Given the description of an element on the screen output the (x, y) to click on. 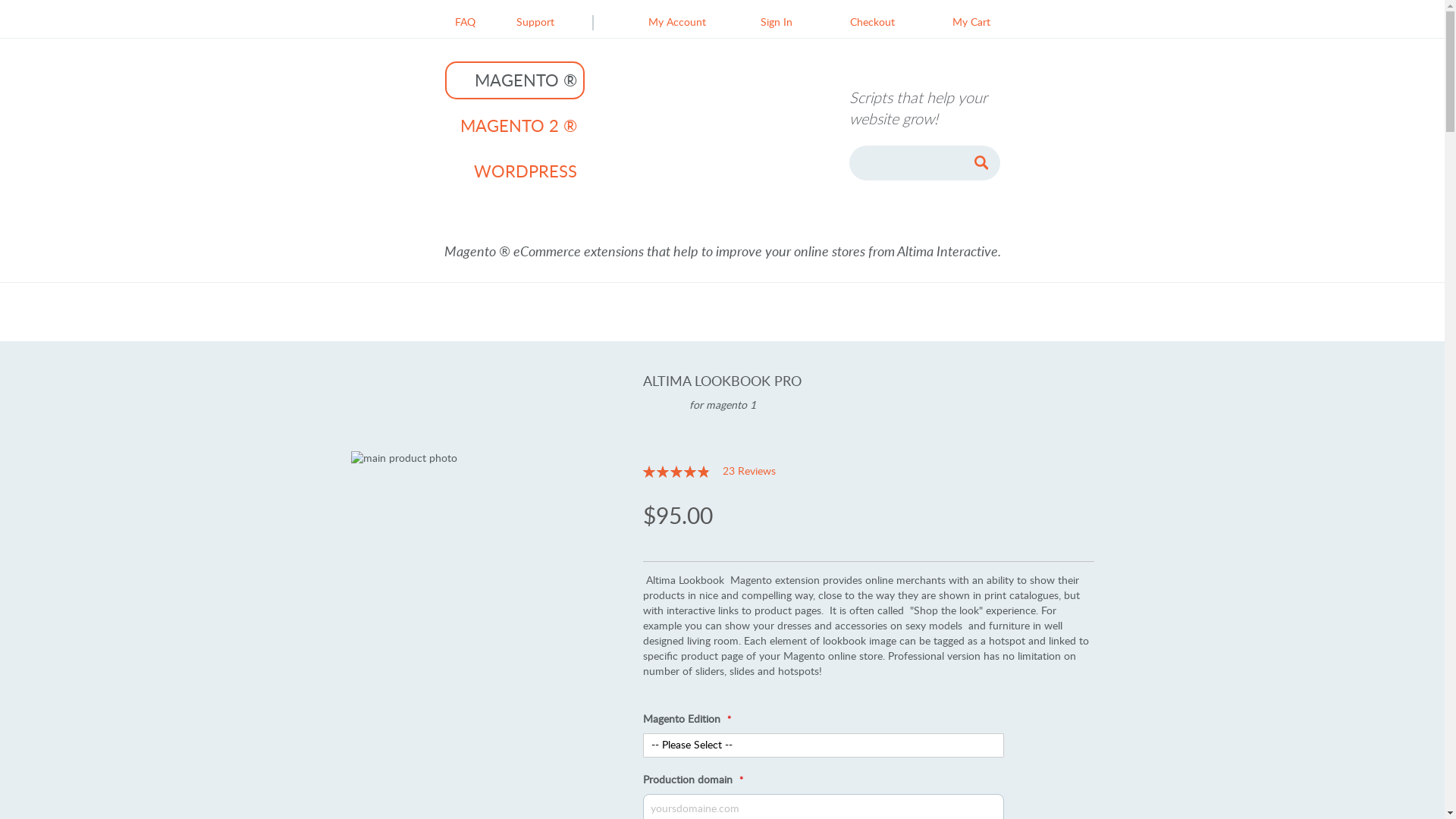
Sign In Element type: text (764, 22)
Search Element type: text (980, 162)
My Account Element type: text (665, 22)
Support Element type: text (534, 22)
23 Reviews Element type: text (748, 471)
FAQ Element type: text (465, 22)
WORDPRESS Element type: text (513, 171)
Checkout Element type: text (861, 22)
My Cart Element type: text (960, 22)
